Given the description of an element on the screen output the (x, y) to click on. 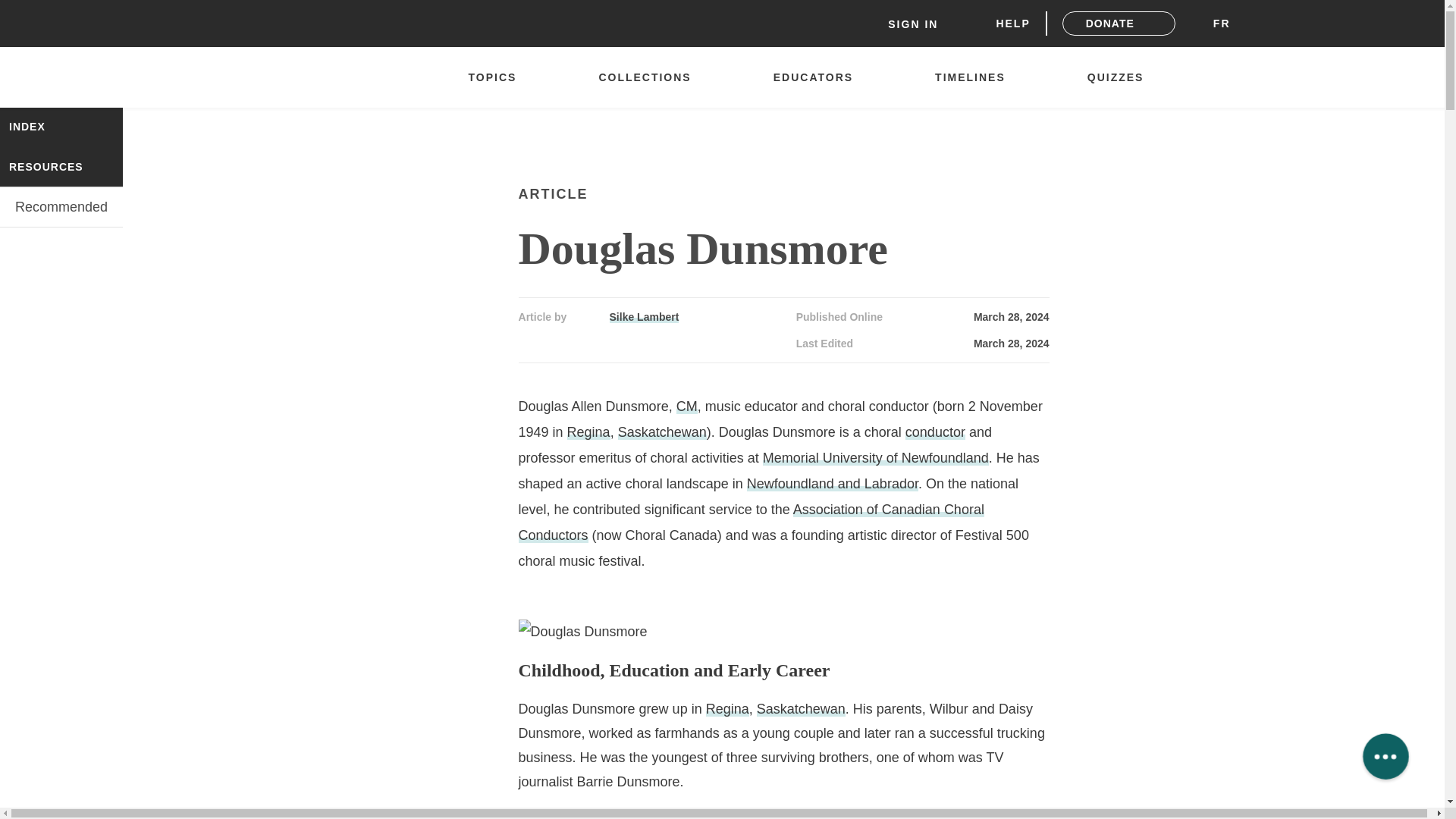
TOPICS (499, 77)
COLLECTIONS (651, 77)
Douglas Dunsmore (582, 631)
